Given the description of an element on the screen output the (x, y) to click on. 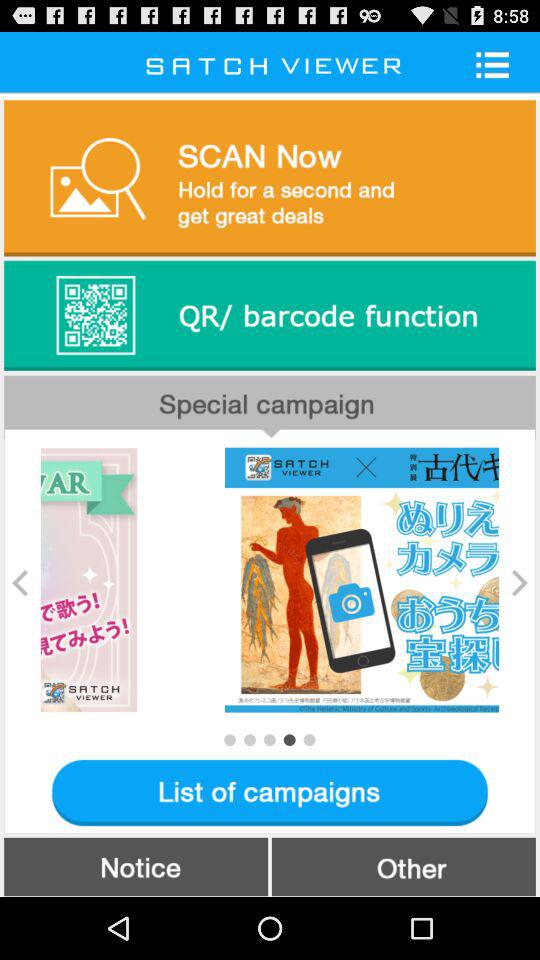
choose item at the bottom left corner (136, 866)
